Given the description of an element on the screen output the (x, y) to click on. 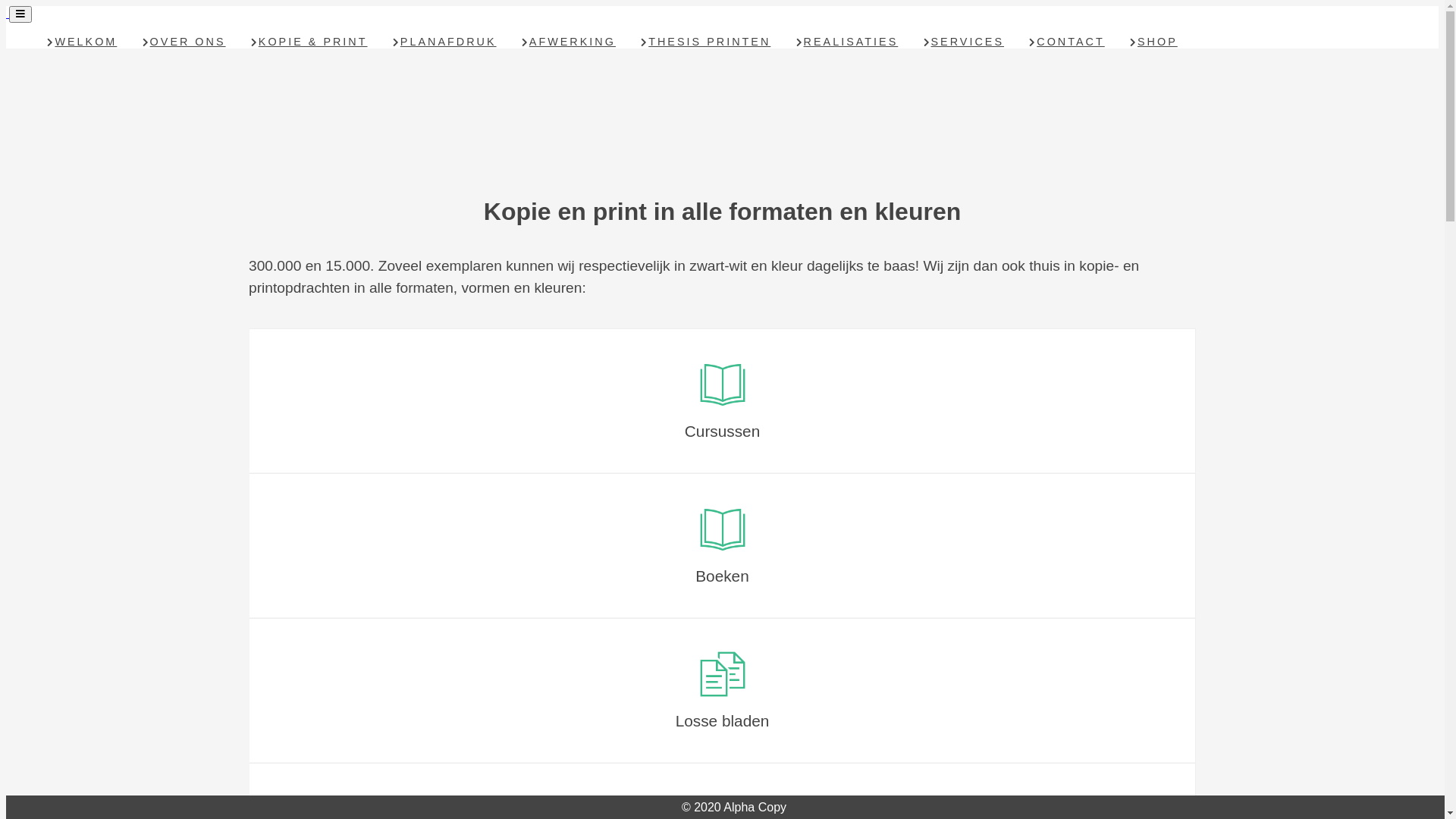
KOPIE & PRINT Element type: text (308, 41)
AFWERKING Element type: text (568, 41)
SERVICES Element type: text (963, 41)
REALISATIES Element type: text (846, 41)
WELKOM Element type: text (82, 41)
THESIS PRINTEN Element type: text (705, 41)
OVER ONS Element type: text (183, 41)
PLANAFDRUK Element type: text (444, 41)
CONTACT Element type: text (1066, 41)
SHOP Element type: text (1154, 41)
